Given the description of an element on the screen output the (x, y) to click on. 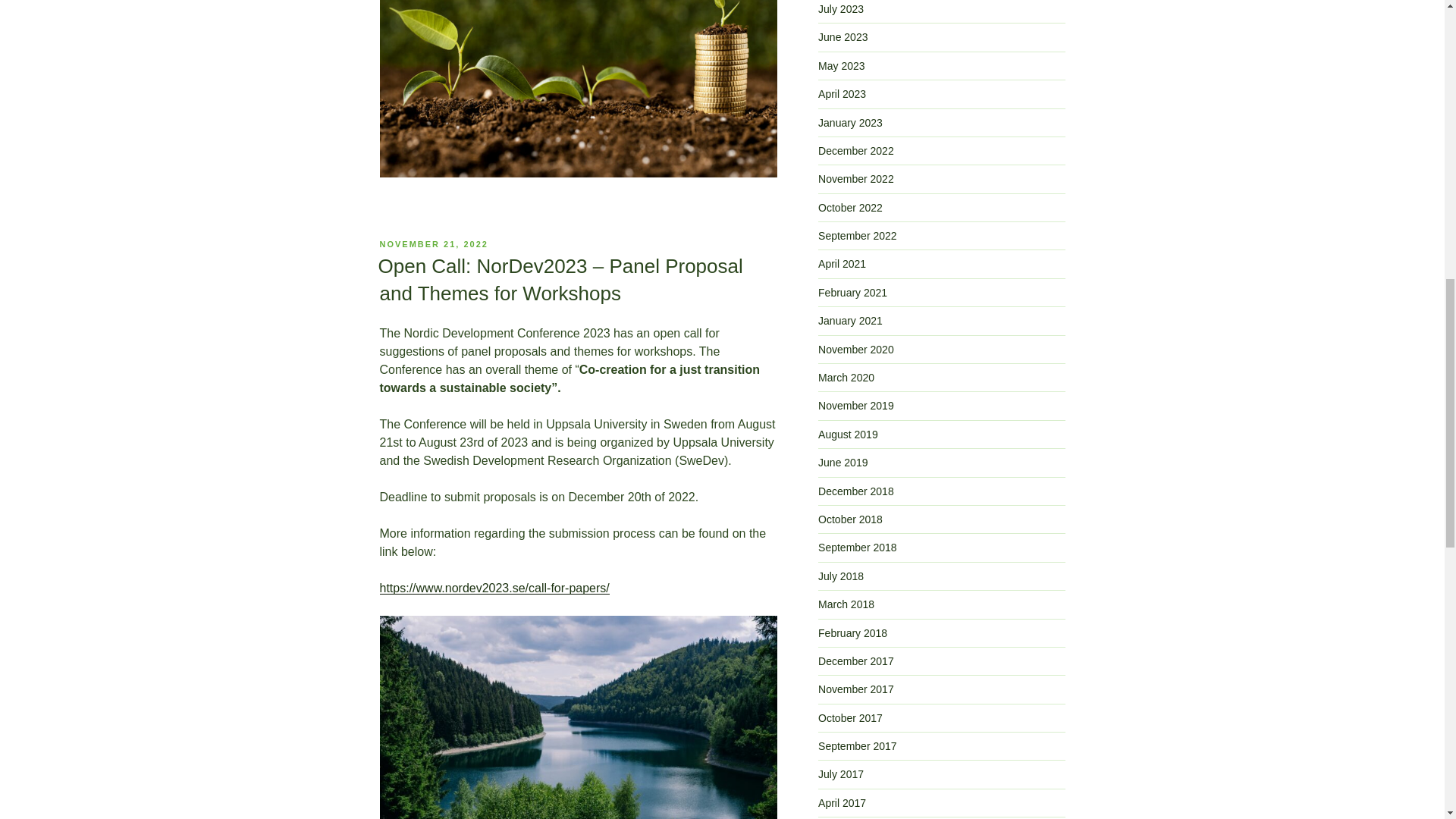
April 2023 (842, 93)
October 2022 (850, 207)
NOVEMBER 21, 2022 (432, 243)
September 2022 (857, 235)
May 2023 (841, 65)
November 2022 (855, 178)
June 2023 (842, 37)
July 2023 (840, 9)
January 2023 (850, 122)
December 2022 (855, 150)
